Given the description of an element on the screen output the (x, y) to click on. 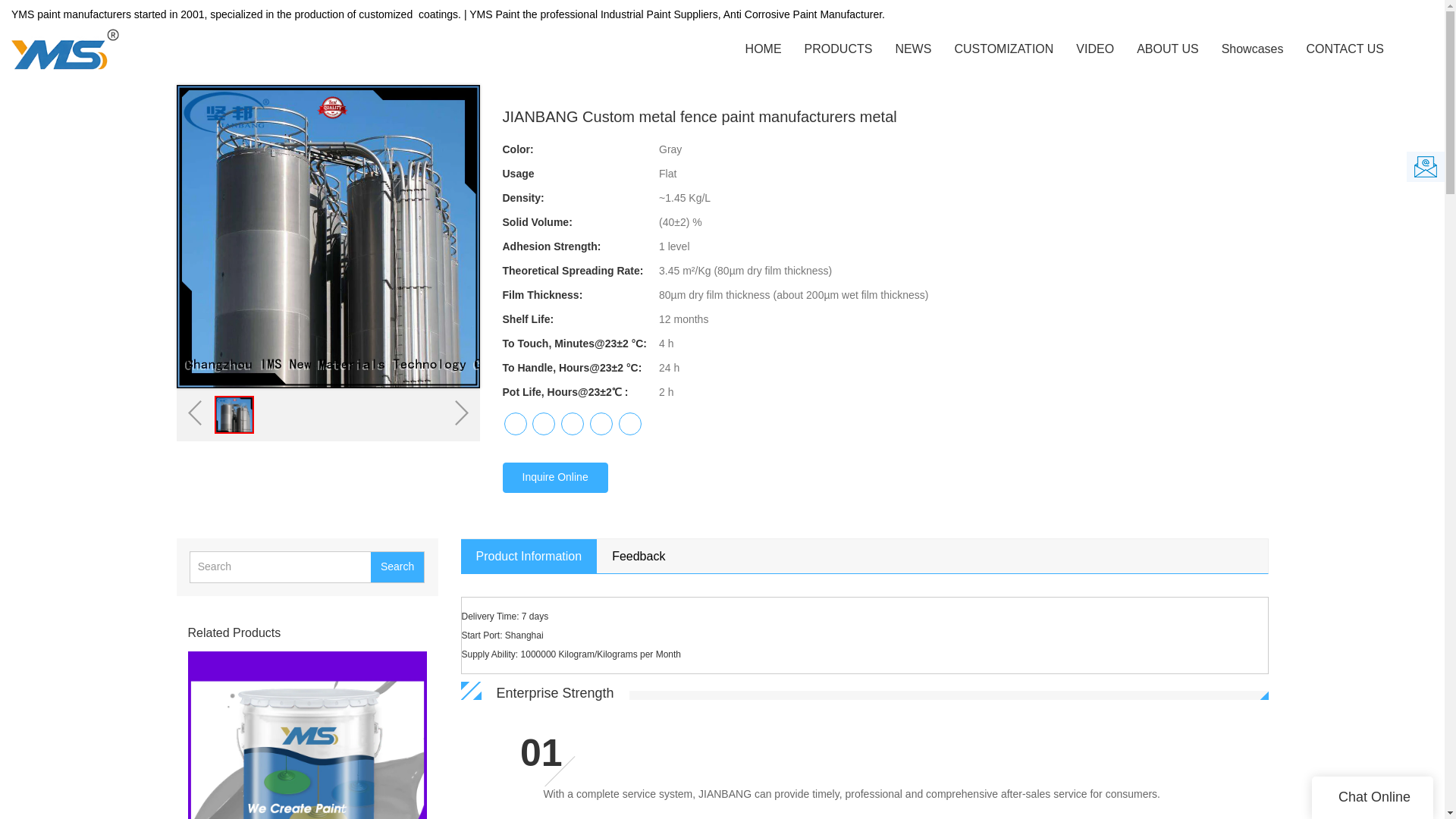
CONTACT US (1345, 49)
AI - Page Sitemap (319, 36)
Search (397, 567)
ABOUT US (1167, 49)
Showcases (1252, 49)
CUSTOMIZATION (1002, 49)
Inquire Online (554, 477)
YMS Paint (200, 36)
PRODUCTS (838, 49)
